Given the description of an element on the screen output the (x, y) to click on. 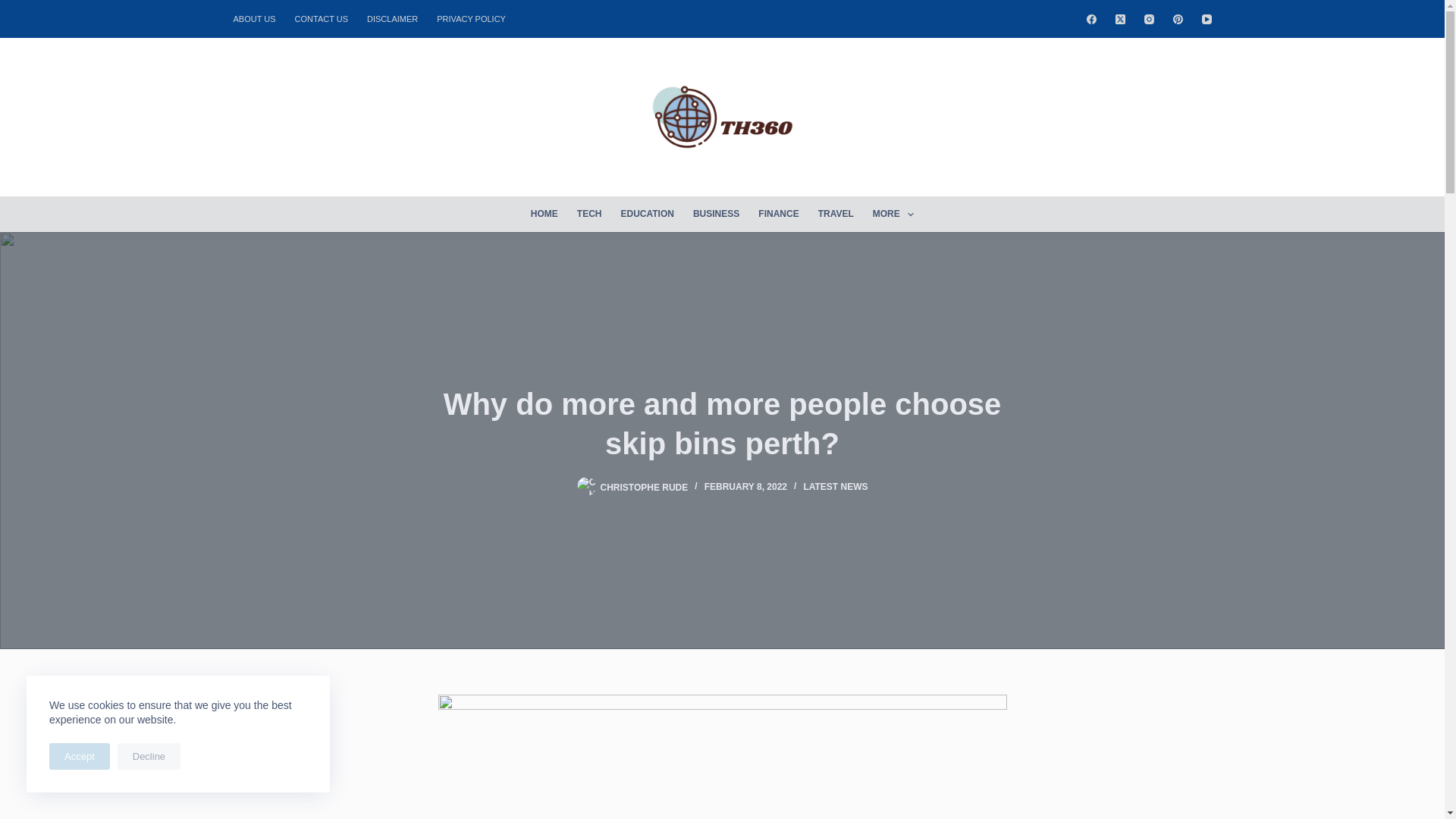
Why do more and more people choose skip bins perth? (722, 423)
PRIVACY POLICY (471, 18)
DISCLAIMER (393, 18)
Decline (148, 755)
TRAVEL (835, 213)
HOME (544, 213)
MORE (893, 213)
TECH (589, 213)
Accept (79, 755)
ABOUT US (258, 18)
